Given the description of an element on the screen output the (x, y) to click on. 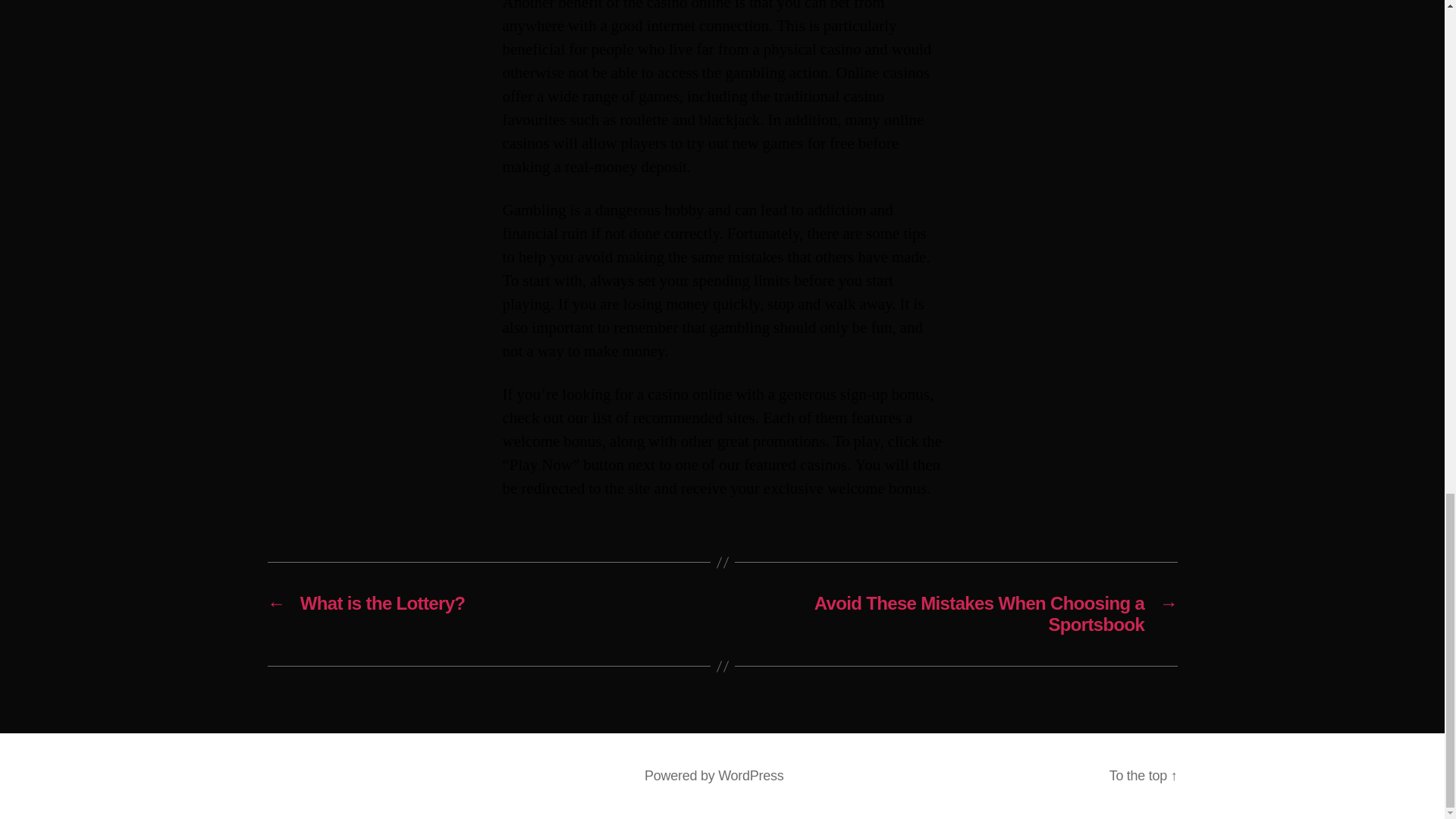
Powered by WordPress (714, 775)
